Given the description of an element on the screen output the (x, y) to click on. 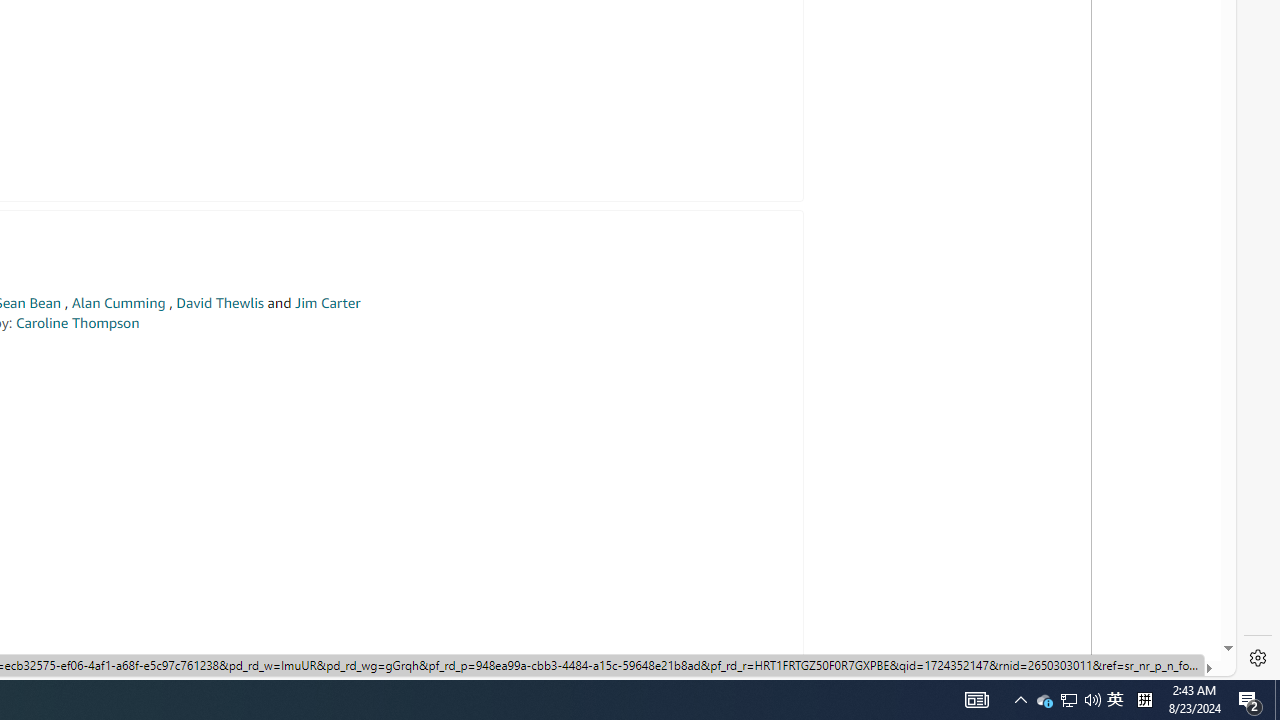
Jim Carter (327, 303)
Caroline Thompson (77, 322)
Alan Cumming (118, 303)
David Thewlis (219, 303)
